Given the description of an element on the screen output the (x, y) to click on. 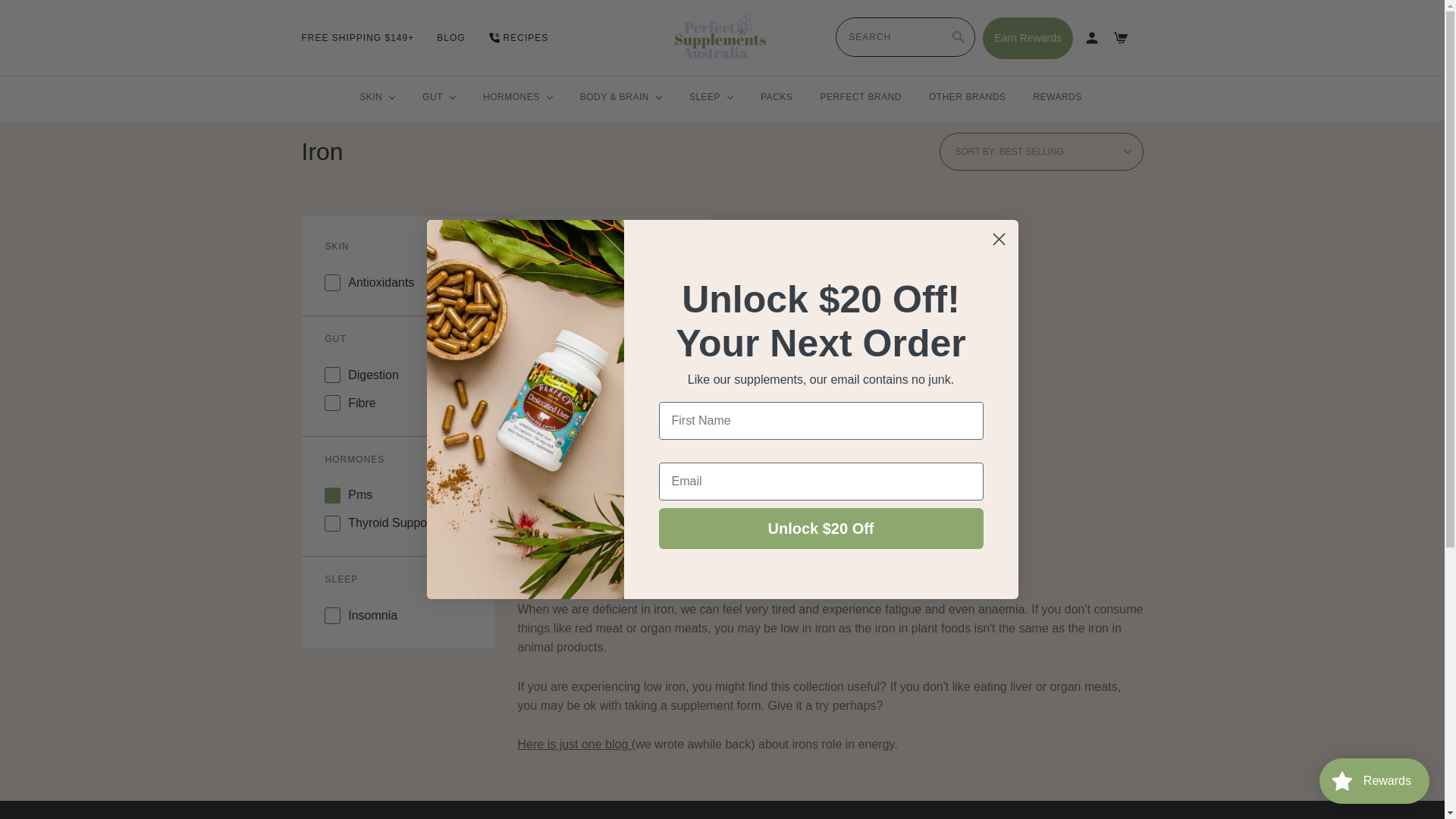
Earn Rewards (1027, 37)
Close dialog 1 (998, 239)
Irons role in energy (573, 744)
